Given the description of an element on the screen output the (x, y) to click on. 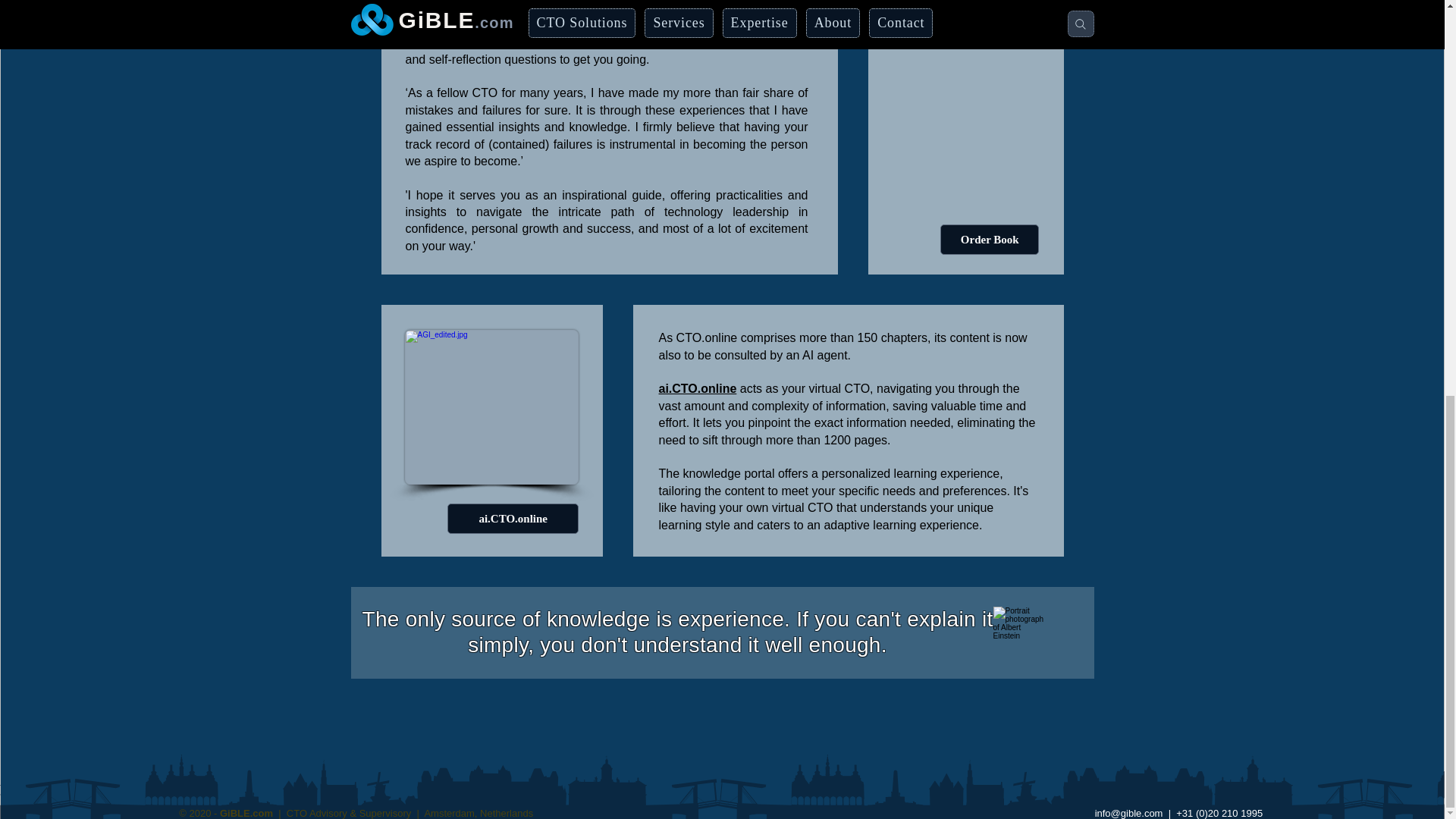
ai.CTO.online (697, 388)
ai.CTO.online (512, 518)
Order Book (989, 239)
ai.CTO.online (491, 407)
